Given the description of an element on the screen output the (x, y) to click on. 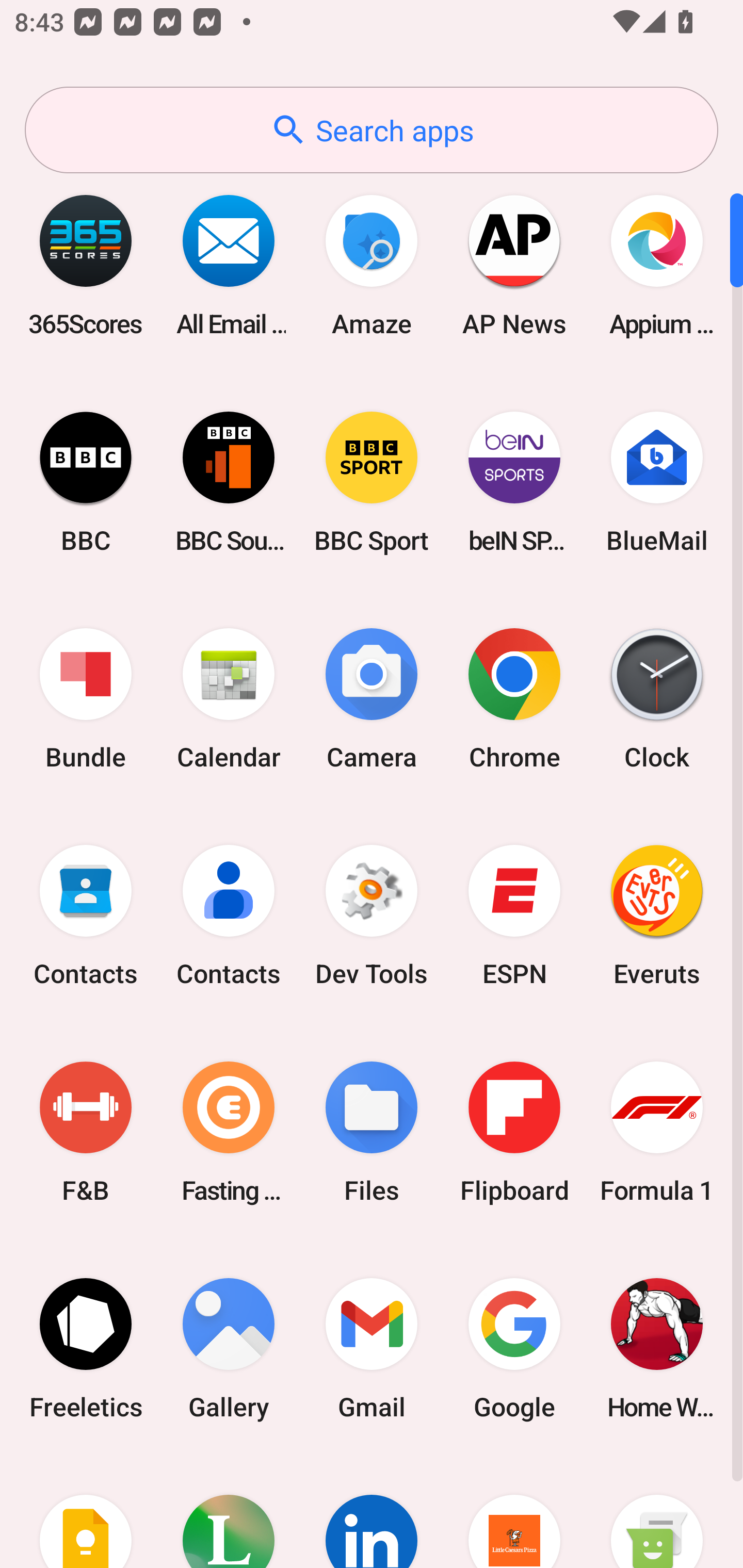
  Search apps (371, 130)
365Scores (85, 264)
All Email Connect (228, 264)
Amaze (371, 264)
AP News (514, 264)
Appium Settings (656, 264)
BBC (85, 482)
BBC Sounds (228, 482)
BBC Sport (371, 482)
beIN SPORTS (514, 482)
BlueMail (656, 482)
Bundle (85, 699)
Calendar (228, 699)
Camera (371, 699)
Chrome (514, 699)
Clock (656, 699)
Contacts (85, 915)
Contacts (228, 915)
Dev Tools (371, 915)
ESPN (514, 915)
Everuts (656, 915)
F&B (85, 1131)
Fasting Coach (228, 1131)
Files (371, 1131)
Flipboard (514, 1131)
Formula 1 (656, 1131)
Freeletics (85, 1348)
Gallery (228, 1348)
Gmail (371, 1348)
Google (514, 1348)
Home Workout (656, 1348)
Keep Notes (85, 1512)
Lifesum (228, 1512)
LinkedIn (371, 1512)
Little Caesars Pizza (514, 1512)
Messaging (656, 1512)
